Given the description of an element on the screen output the (x, y) to click on. 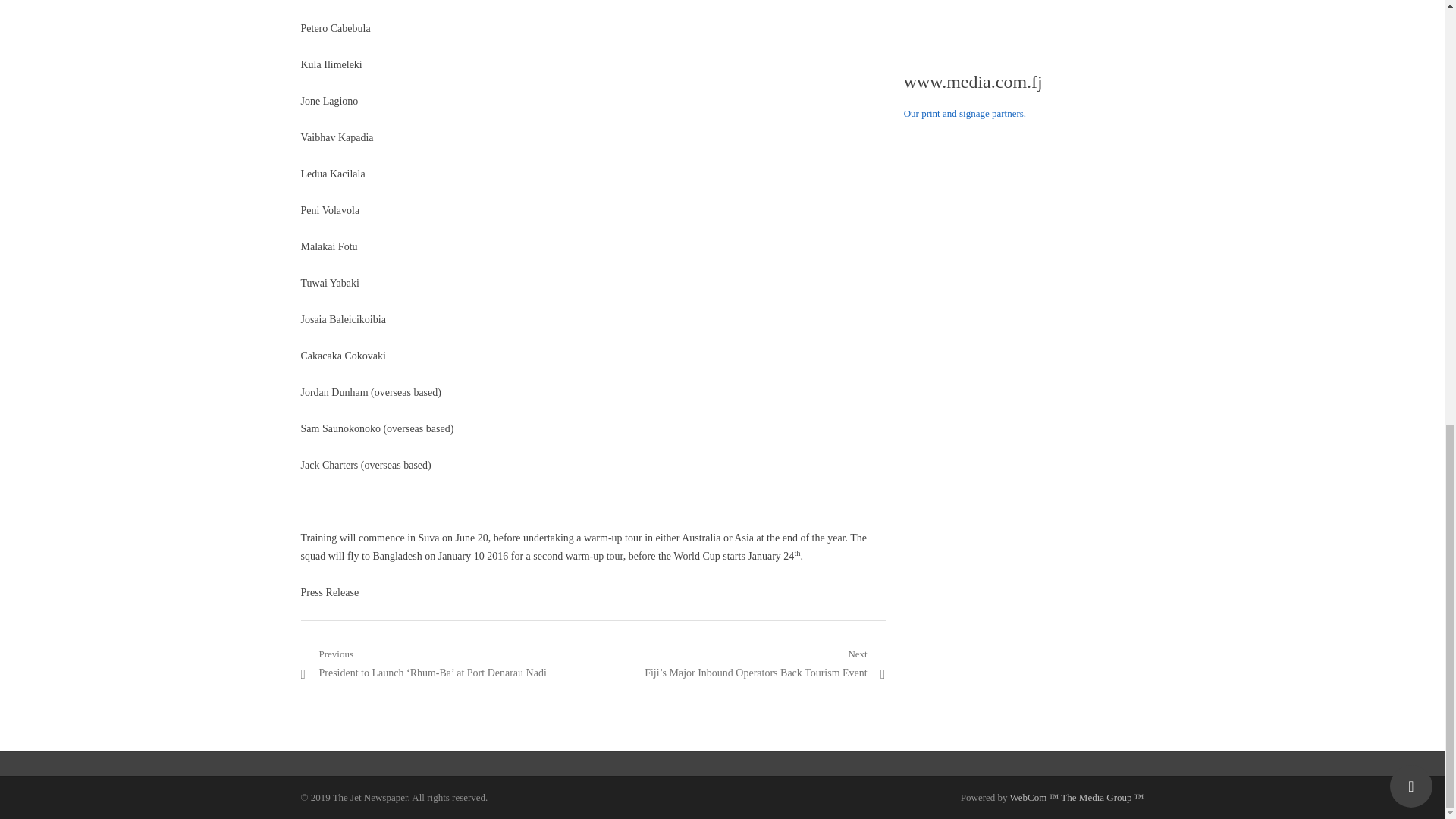
www.media.com.fj (973, 81)
